Given the description of an element on the screen output the (x, y) to click on. 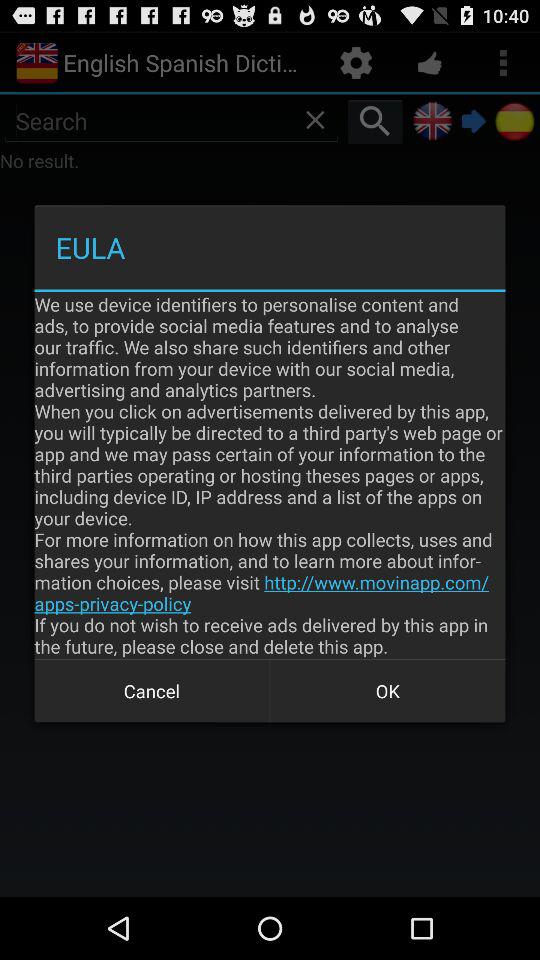
tap icon at the bottom left corner (151, 690)
